Given the description of an element on the screen output the (x, y) to click on. 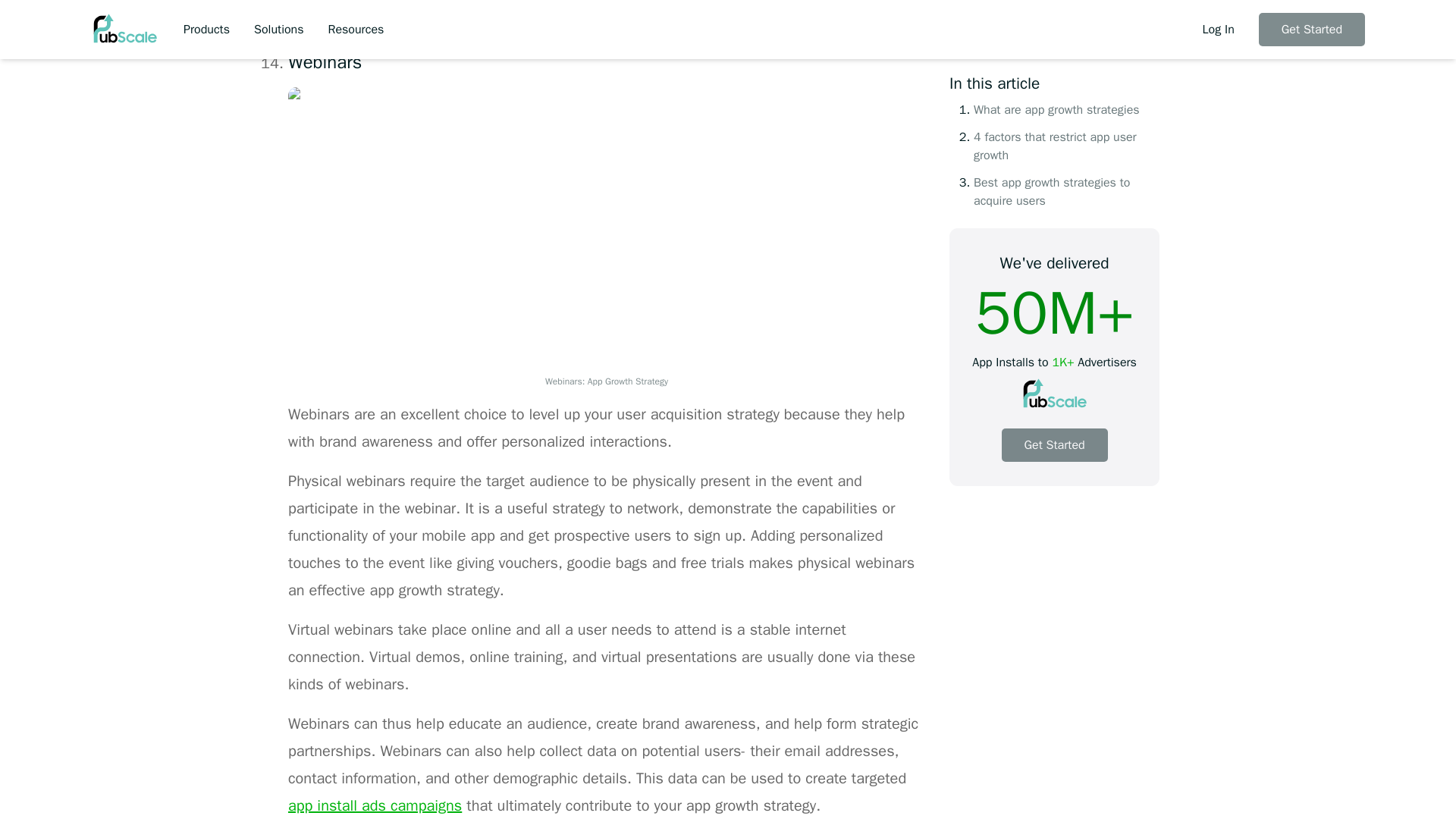
app install ads campaigns (374, 805)
